Given the description of an element on the screen output the (x, y) to click on. 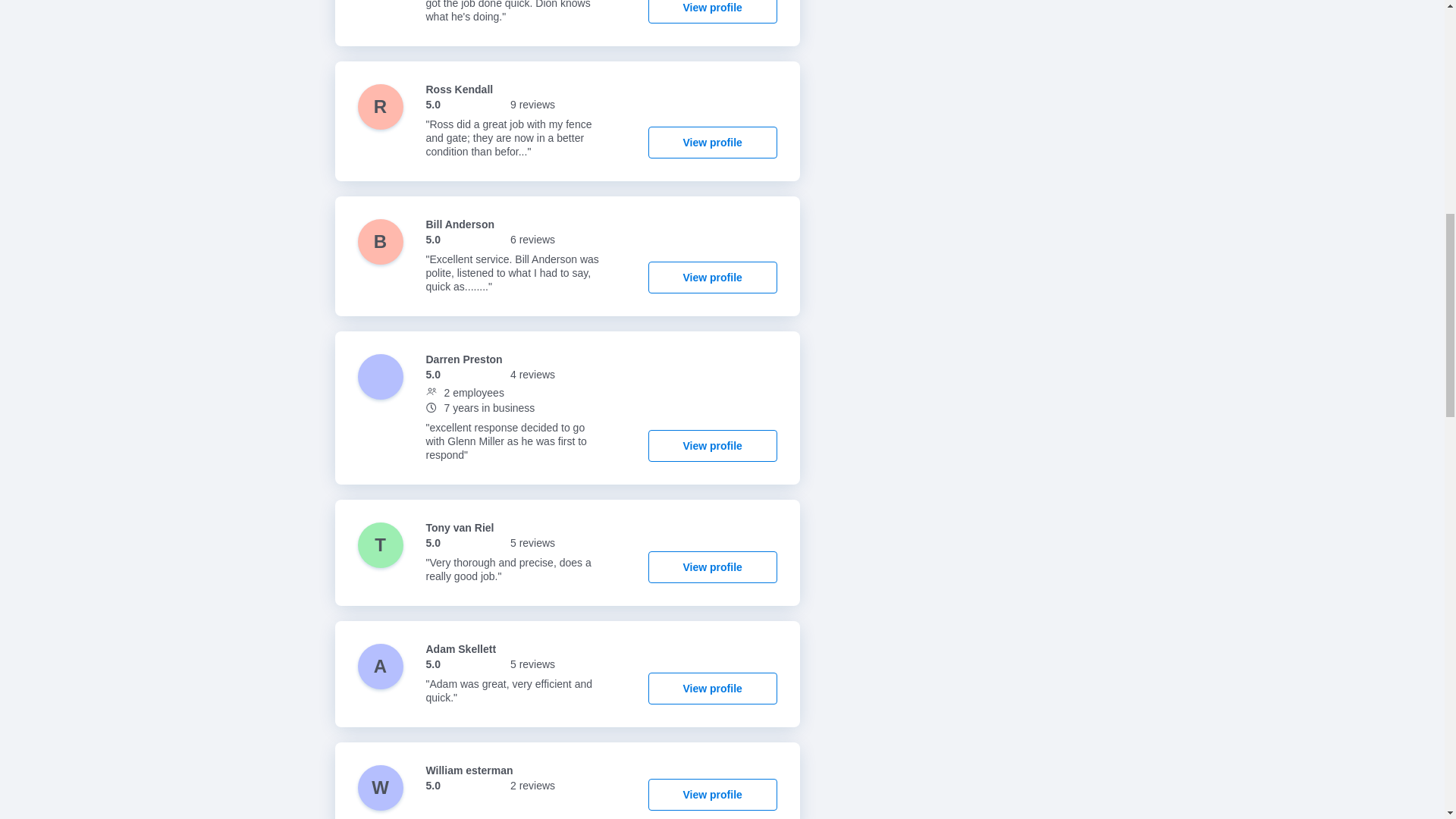
View profile (712, 11)
View profile (712, 794)
View profile (712, 142)
View profile (712, 277)
View profile (712, 688)
View profile (712, 567)
View profile (712, 445)
